Given the description of an element on the screen output the (x, y) to click on. 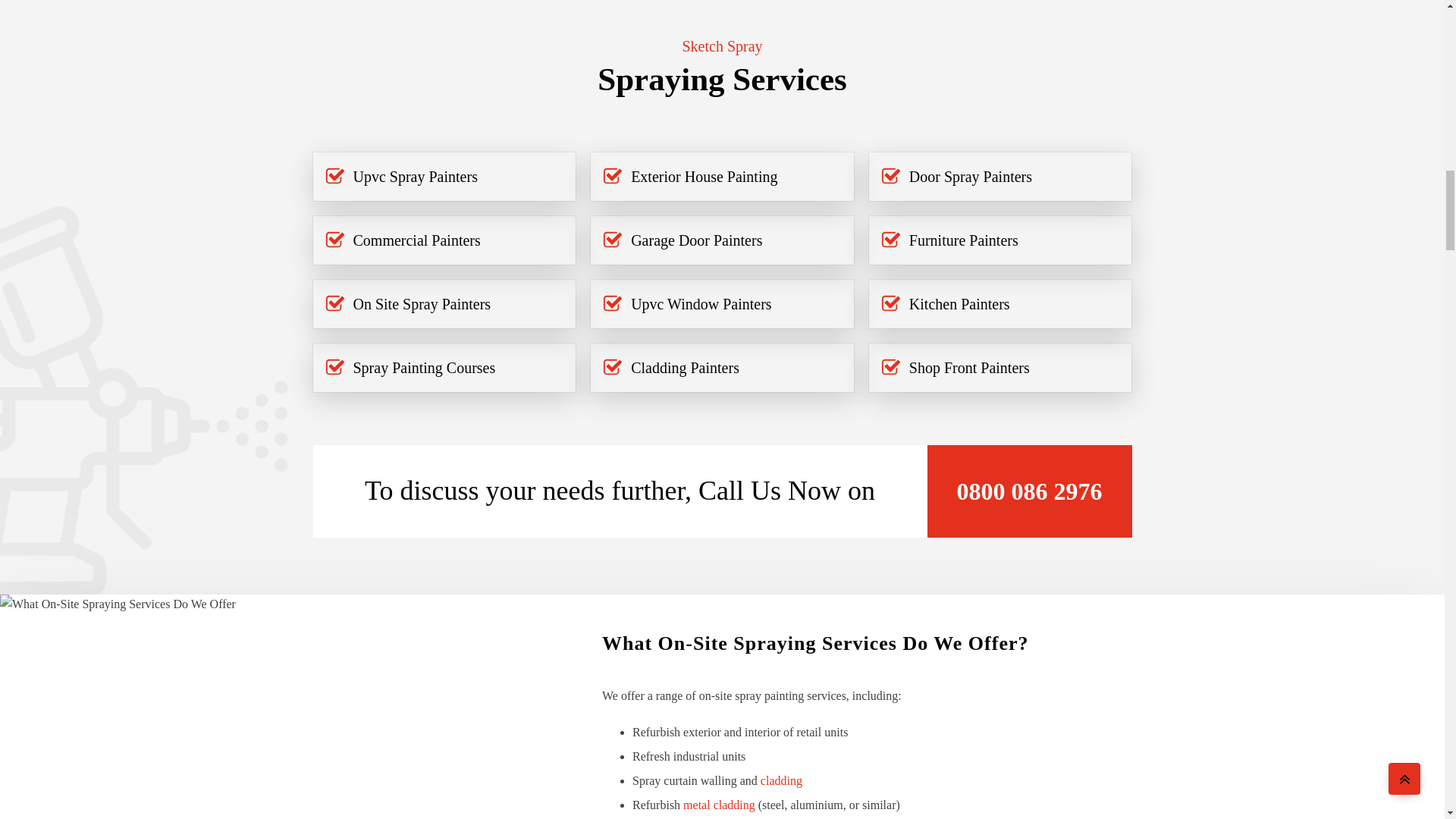
Garage Door Painters (695, 240)
Spray Painting Courses (424, 367)
Door Spray Painters (970, 176)
Upvc Window Painters (700, 303)
Commercial Painters (416, 240)
Exterior House Painting (703, 176)
On Site Spray Painters (422, 303)
Furniture Painters (962, 240)
Kitchen Painters (959, 303)
Upvc Spray Painters (415, 176)
